Given the description of an element on the screen output the (x, y) to click on. 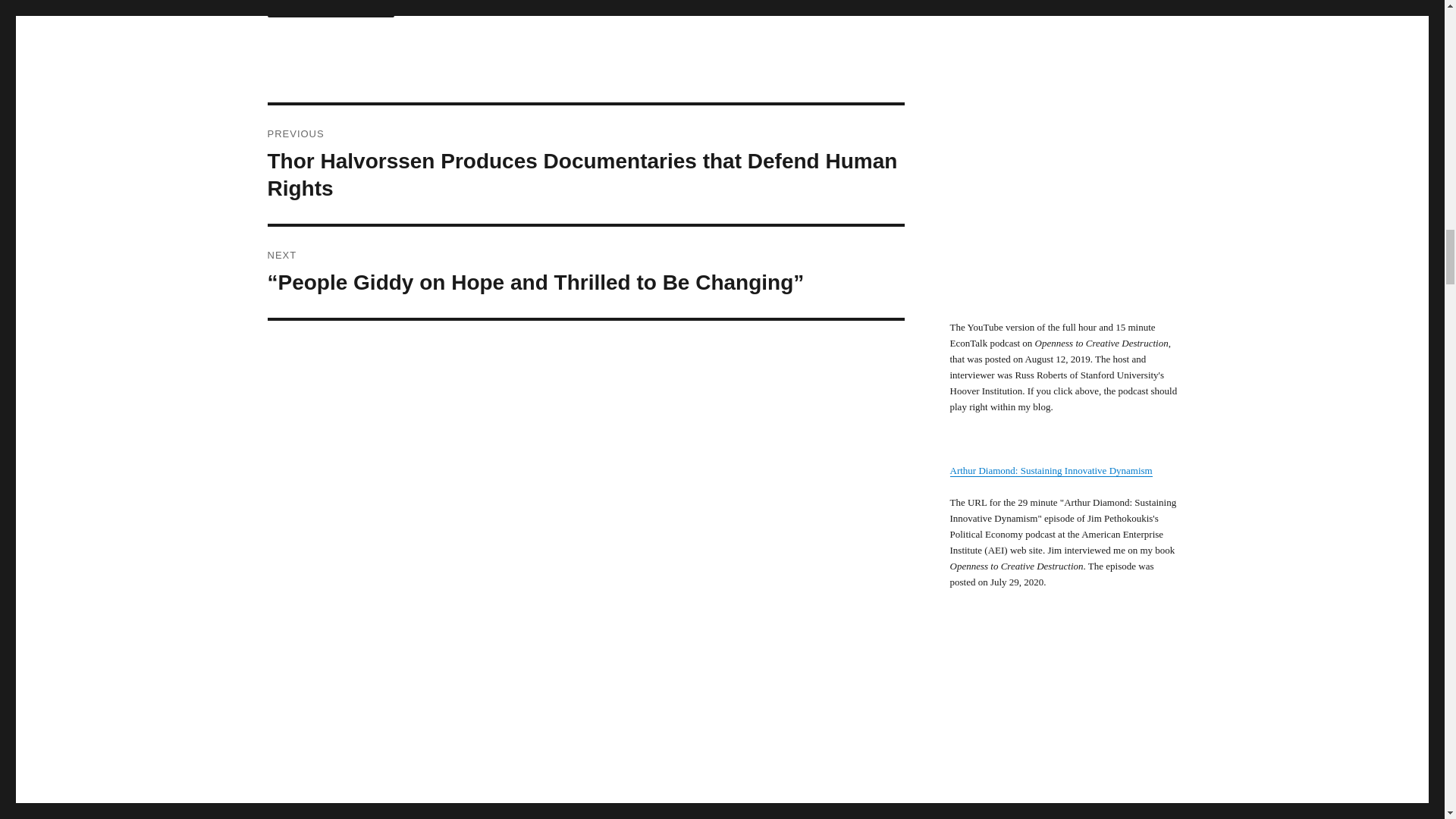
Arthur Diamond: Sustaining Innovative Dynamism (1050, 470)
Post Comment (330, 8)
Post Comment (330, 8)
